Given the description of an element on the screen output the (x, y) to click on. 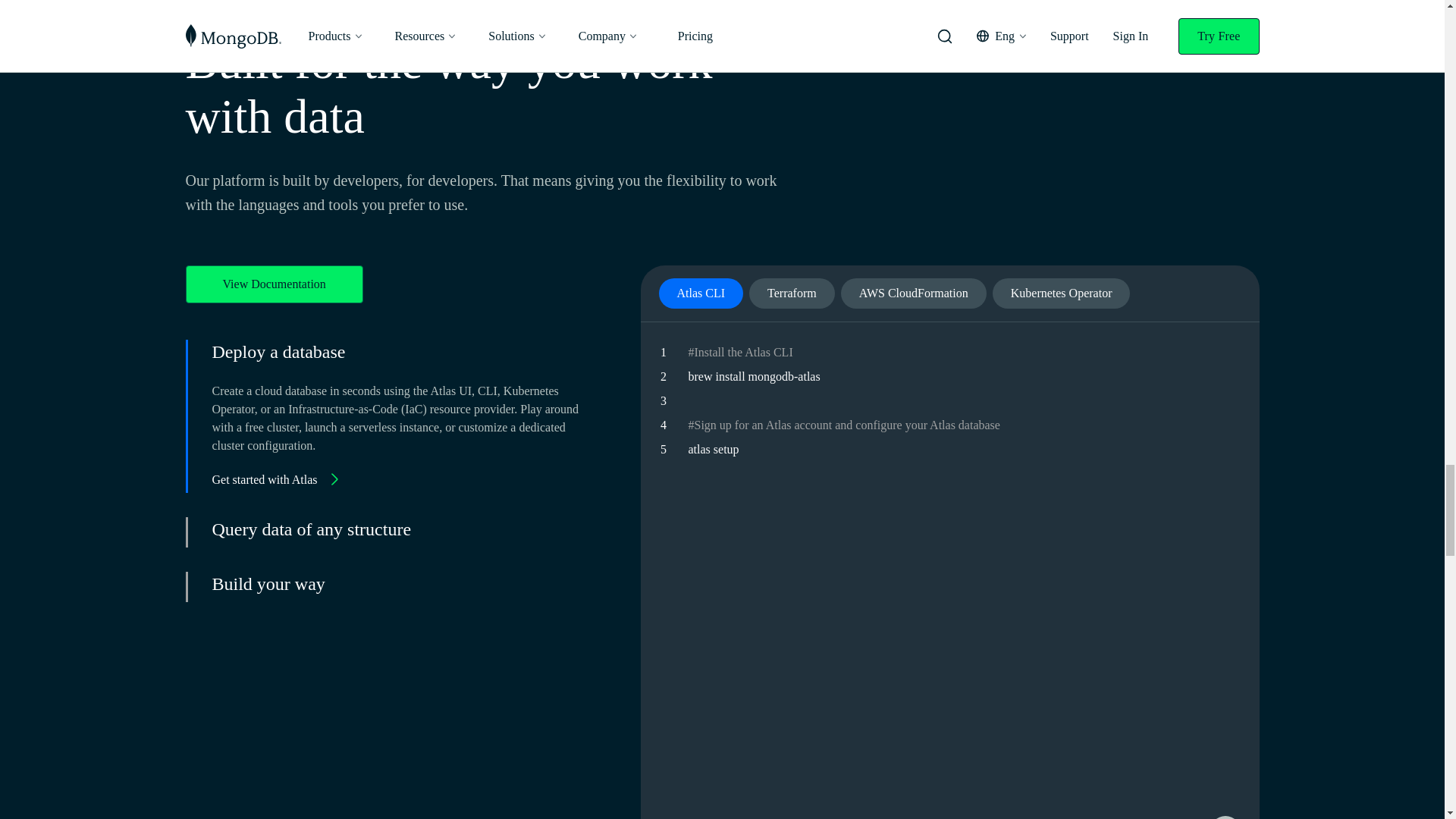
Copy Code (1224, 817)
copy (1224, 817)
